Given the description of an element on the screen output the (x, y) to click on. 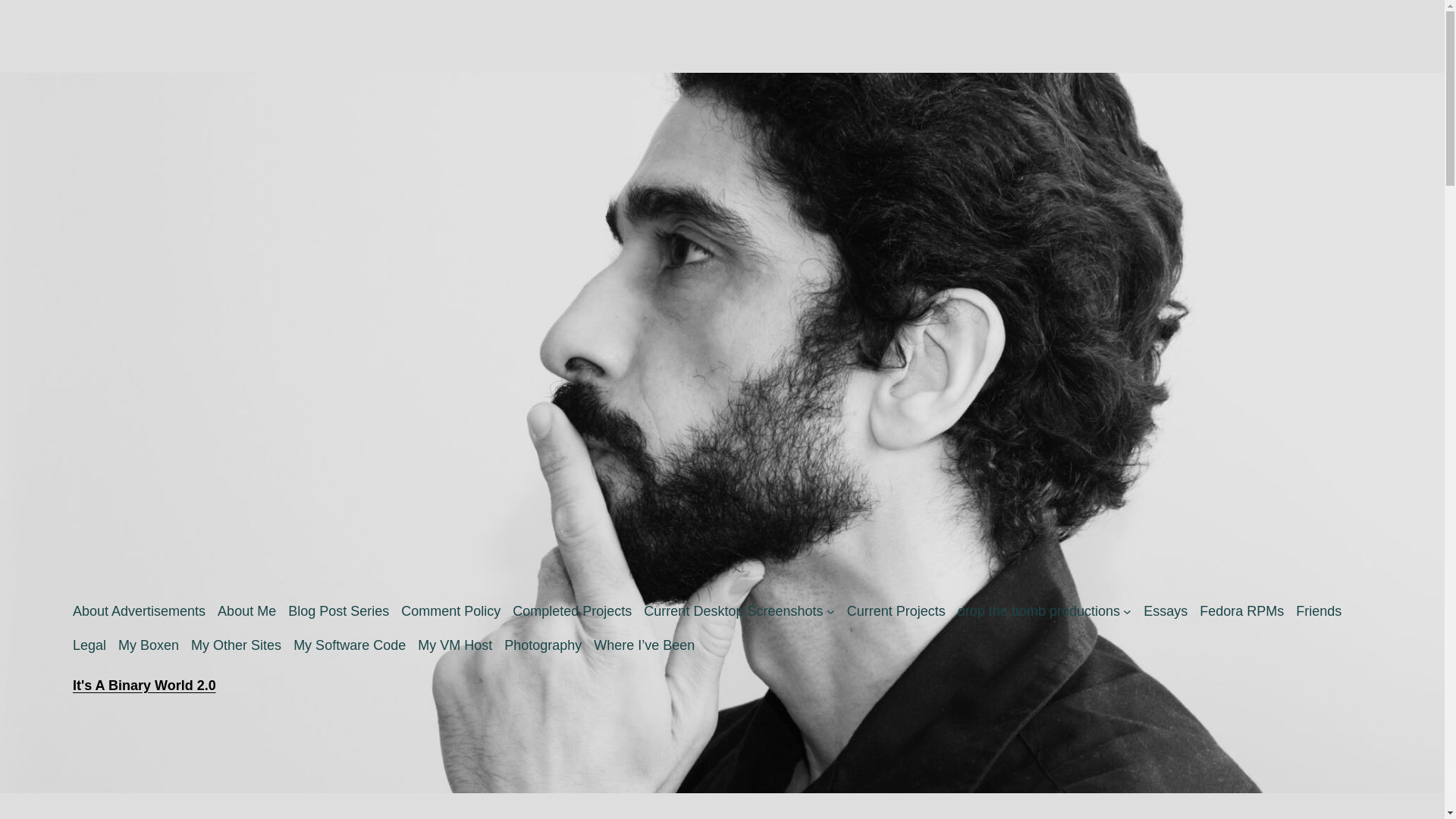
Current Desktop Screenshots (732, 611)
Completed Projects (571, 611)
Comment Policy (450, 611)
drop the bomb productions (1038, 611)
About Me (246, 611)
Current Projects (895, 611)
Friends (1317, 611)
Legal (89, 645)
About Advertisements (138, 611)
Fedora RPMs (1241, 611)
Blog Post Series (338, 611)
Essays (1165, 611)
